Given the description of an element on the screen output the (x, y) to click on. 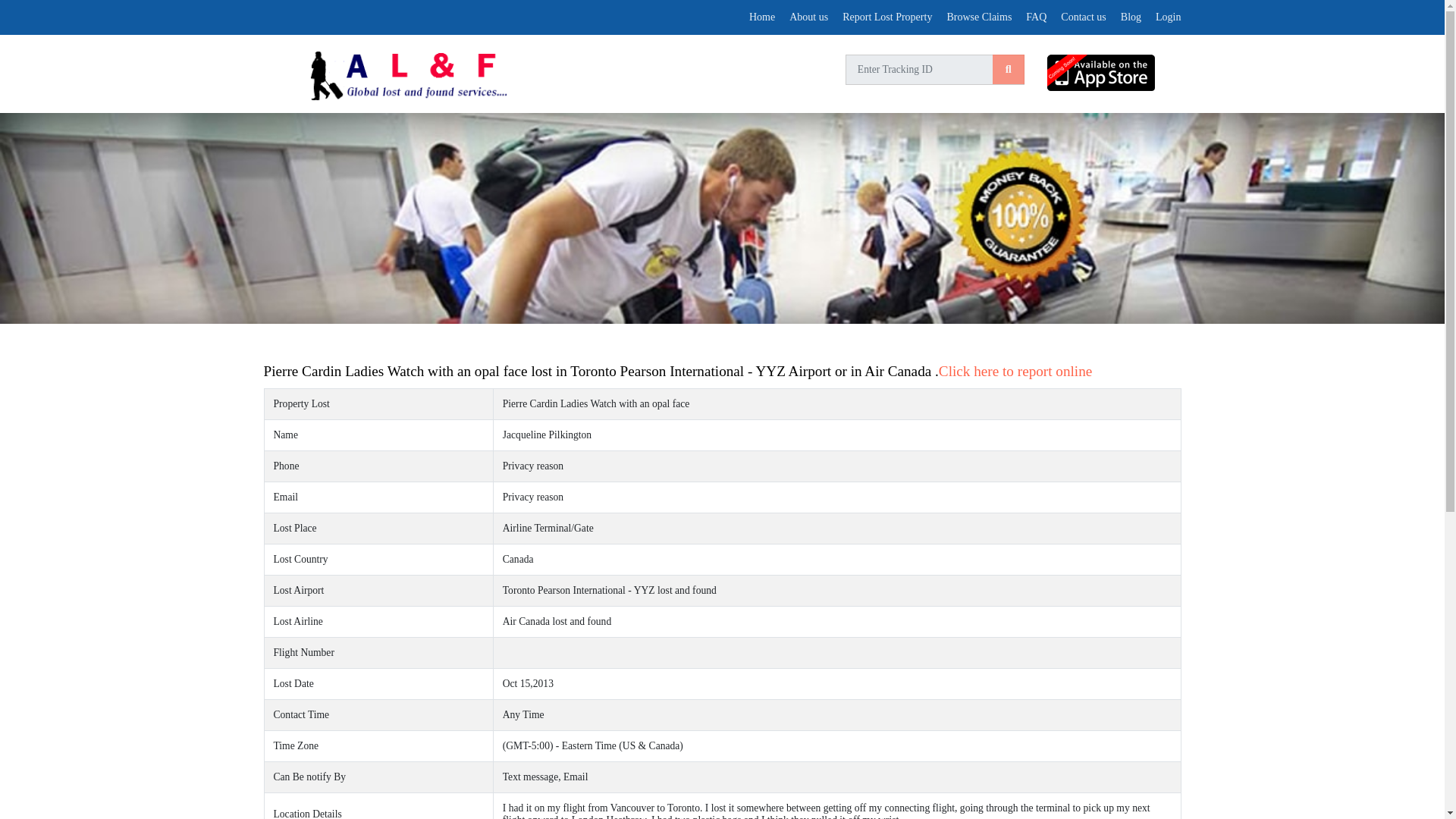
Click here to report online (1015, 371)
App Store (1113, 72)
Browse Claims (978, 17)
Contact us (1083, 17)
About us (808, 17)
Report Lost Property (887, 17)
